Given the description of an element on the screen output the (x, y) to click on. 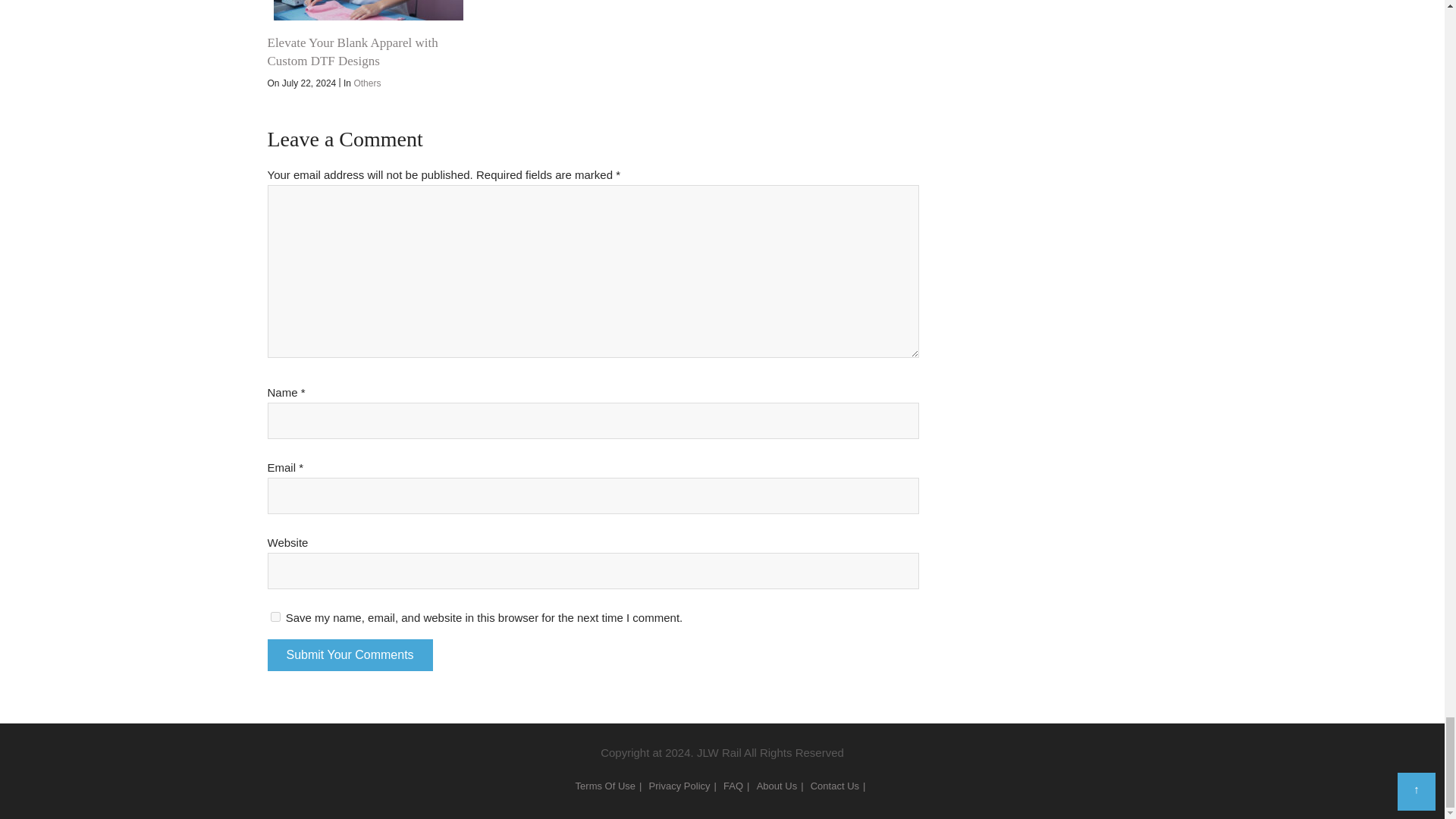
Submit Your Comments (349, 654)
Others (366, 82)
Submit Your Comments (349, 654)
Elevate Your Blank Apparel with Custom DTF Designs (352, 51)
Elevate Your Blank Apparel with Custom DTF Designs (367, 10)
yes (274, 616)
